Given the description of an element on the screen output the (x, y) to click on. 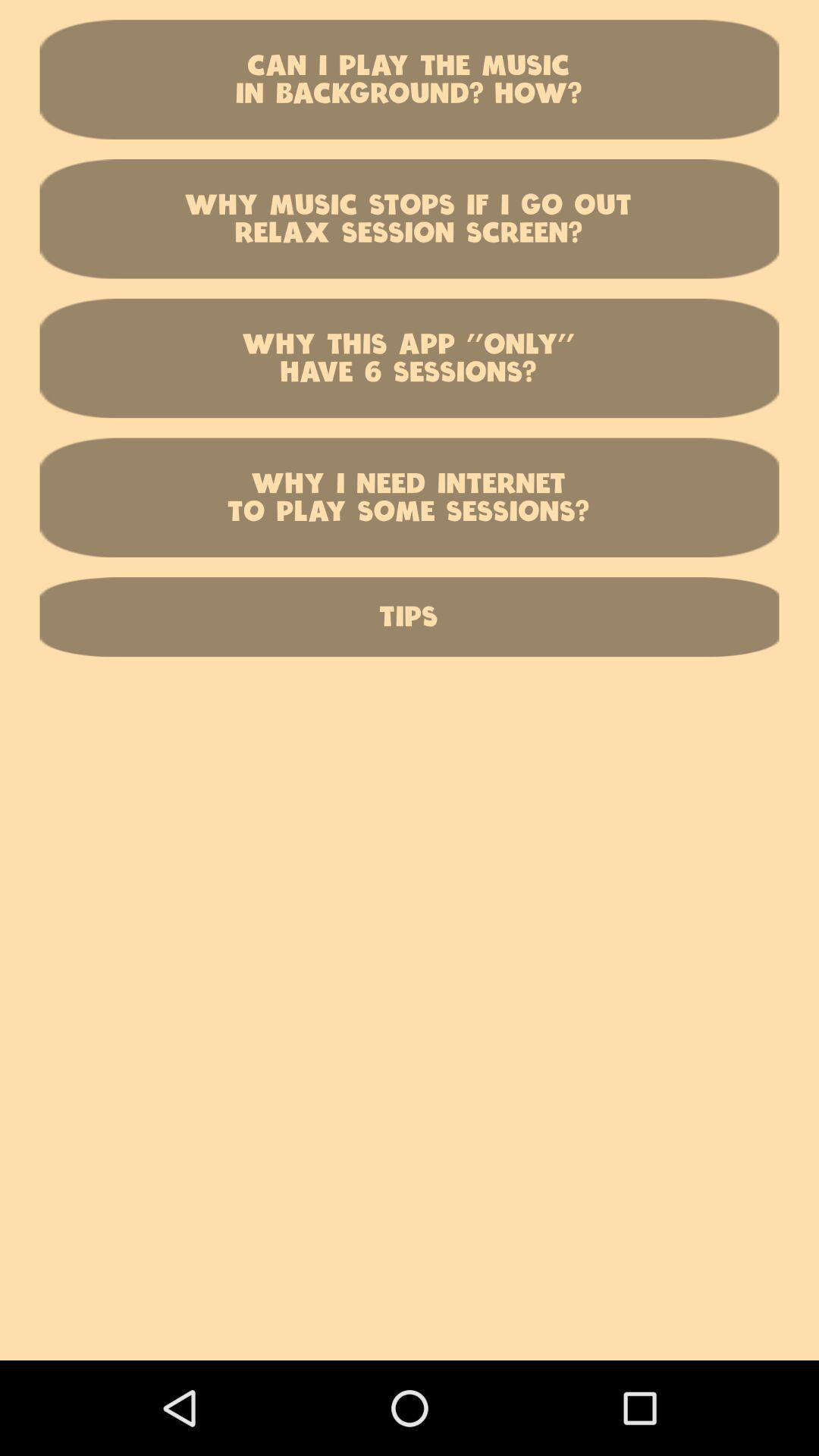
press the why music stops (409, 218)
